Given the description of an element on the screen output the (x, y) to click on. 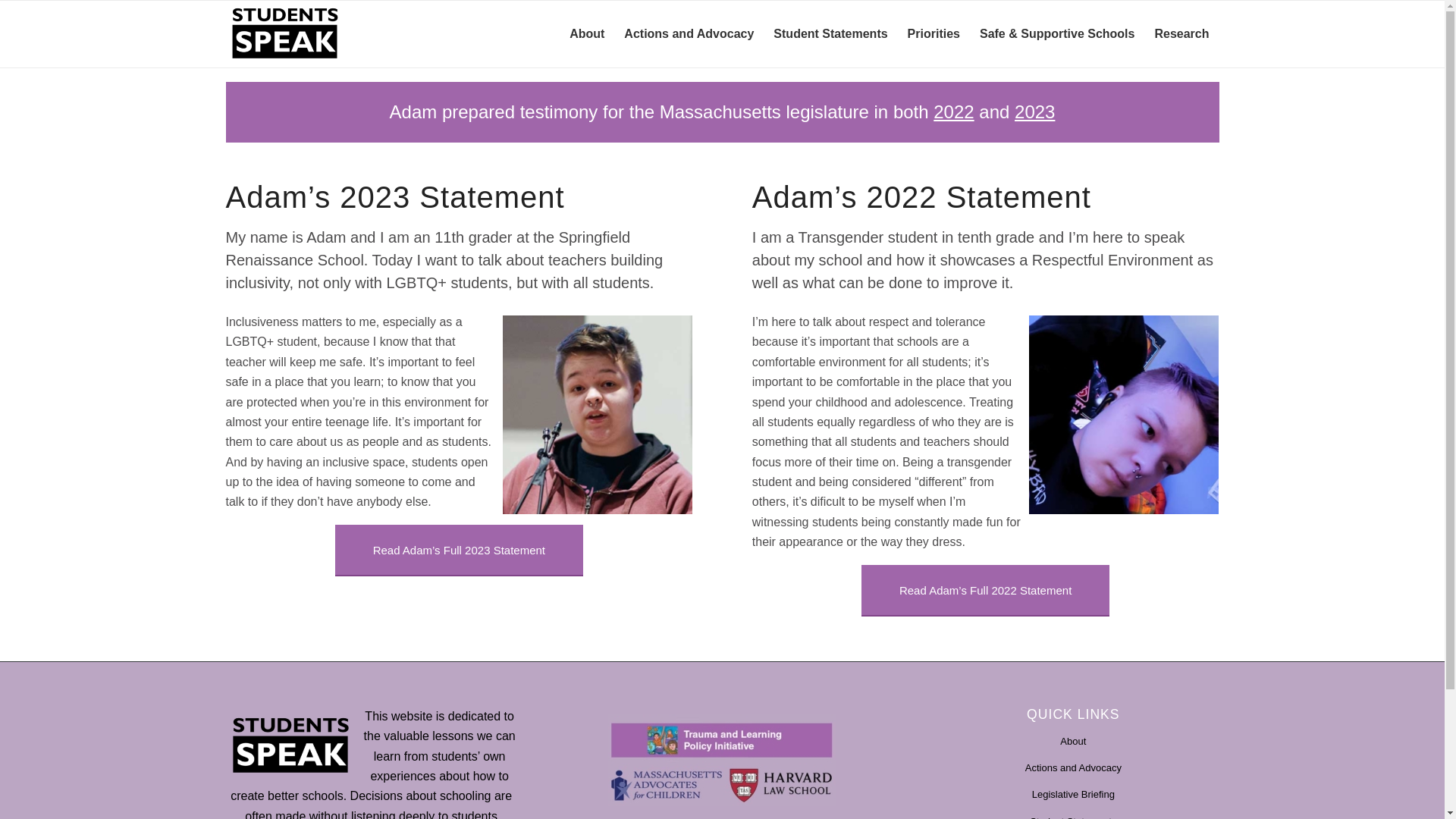
Actions and Advocacy (688, 33)
